Given the description of an element on the screen output the (x, y) to click on. 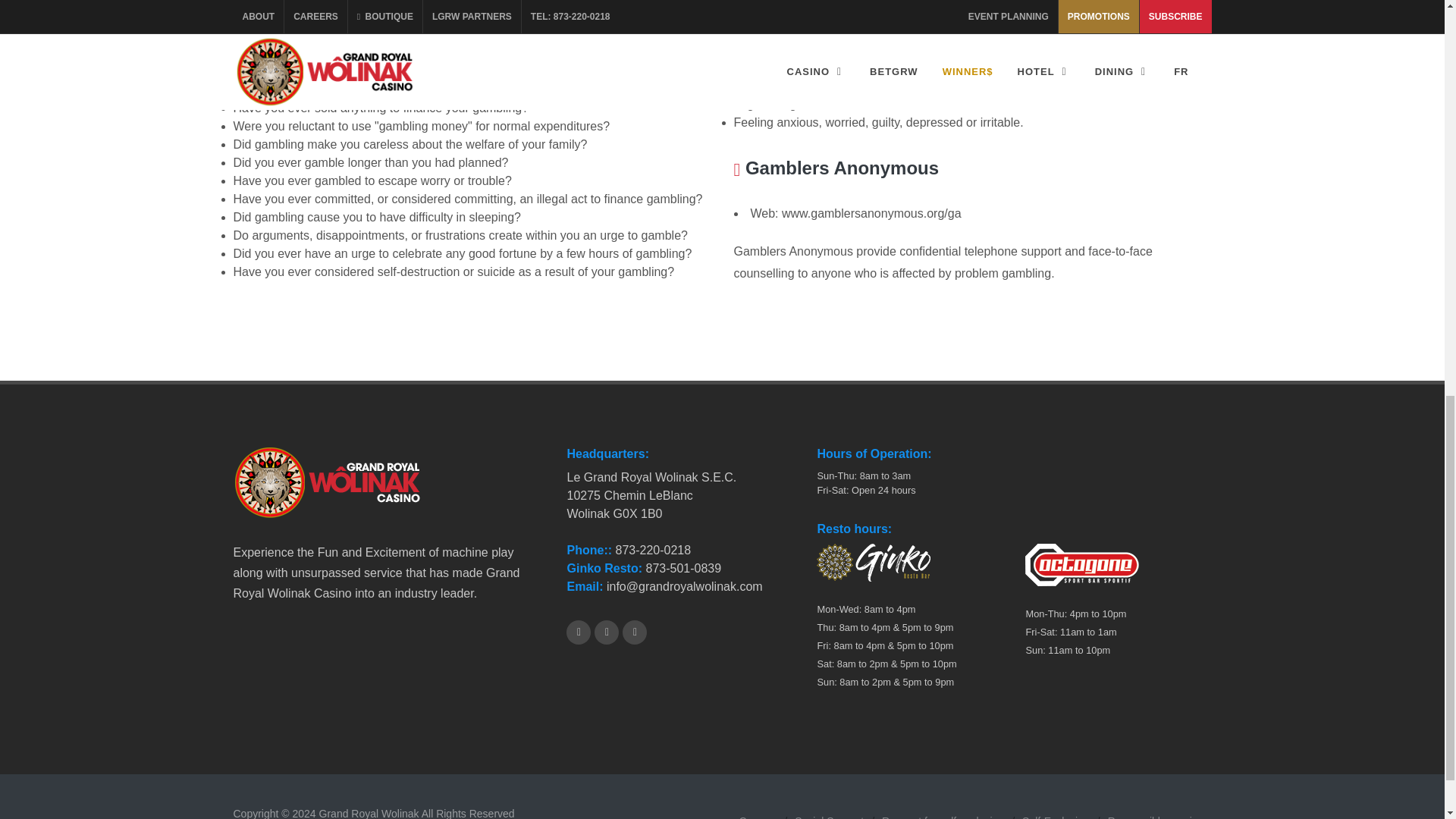
Email Address (584, 585)
Hours (853, 529)
Hours (873, 454)
Headquarters (606, 454)
Phone Number (590, 549)
Ginko Resto (604, 567)
